Given the description of an element on the screen output the (x, y) to click on. 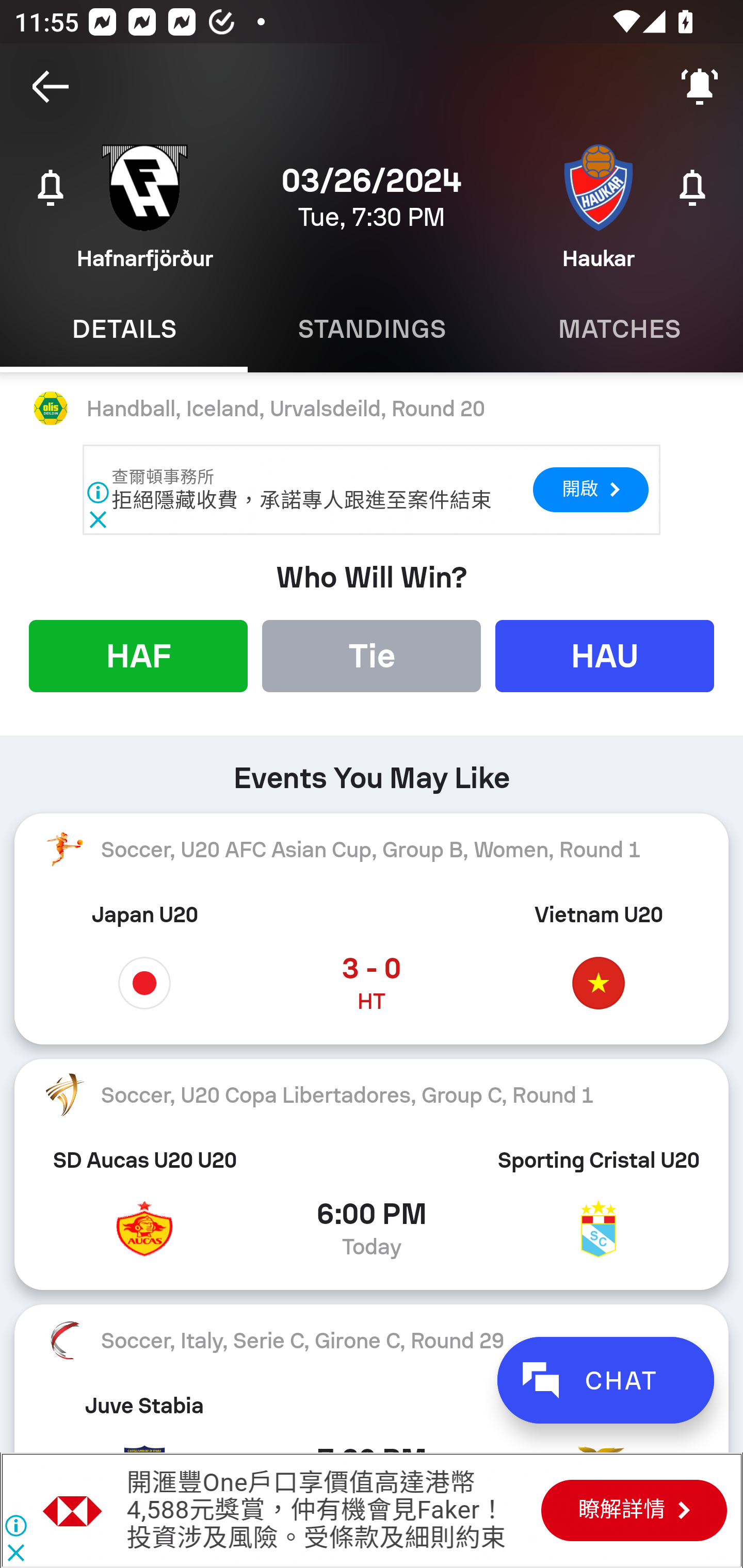
Navigate up (50, 86)
Standings STANDINGS (371, 329)
Matches MATCHES (619, 329)
Handball, Iceland, Urvalsdeild, Round 20 (371, 409)
查爾頓事務所 (163, 476)
開啟 (590, 488)
拒絕隱藏收費，承諾專人跟進至案件結束 (301, 499)
HAF (137, 655)
Tie (371, 655)
HAU (604, 655)
Events You May Like (371, 770)
Soccer, U20 AFC Asian Cup, Group B, Women, Round 1 (371, 849)
Soccer, U20 Copa Libertadores, Group C, Round 1 (371, 1094)
Soccer, Italy, Serie C, Girone C, Round 29 (371, 1340)
CHAT (605, 1380)
滙豐 (73, 1510)
瞭解詳情 (634, 1509)
